Given the description of an element on the screen output the (x, y) to click on. 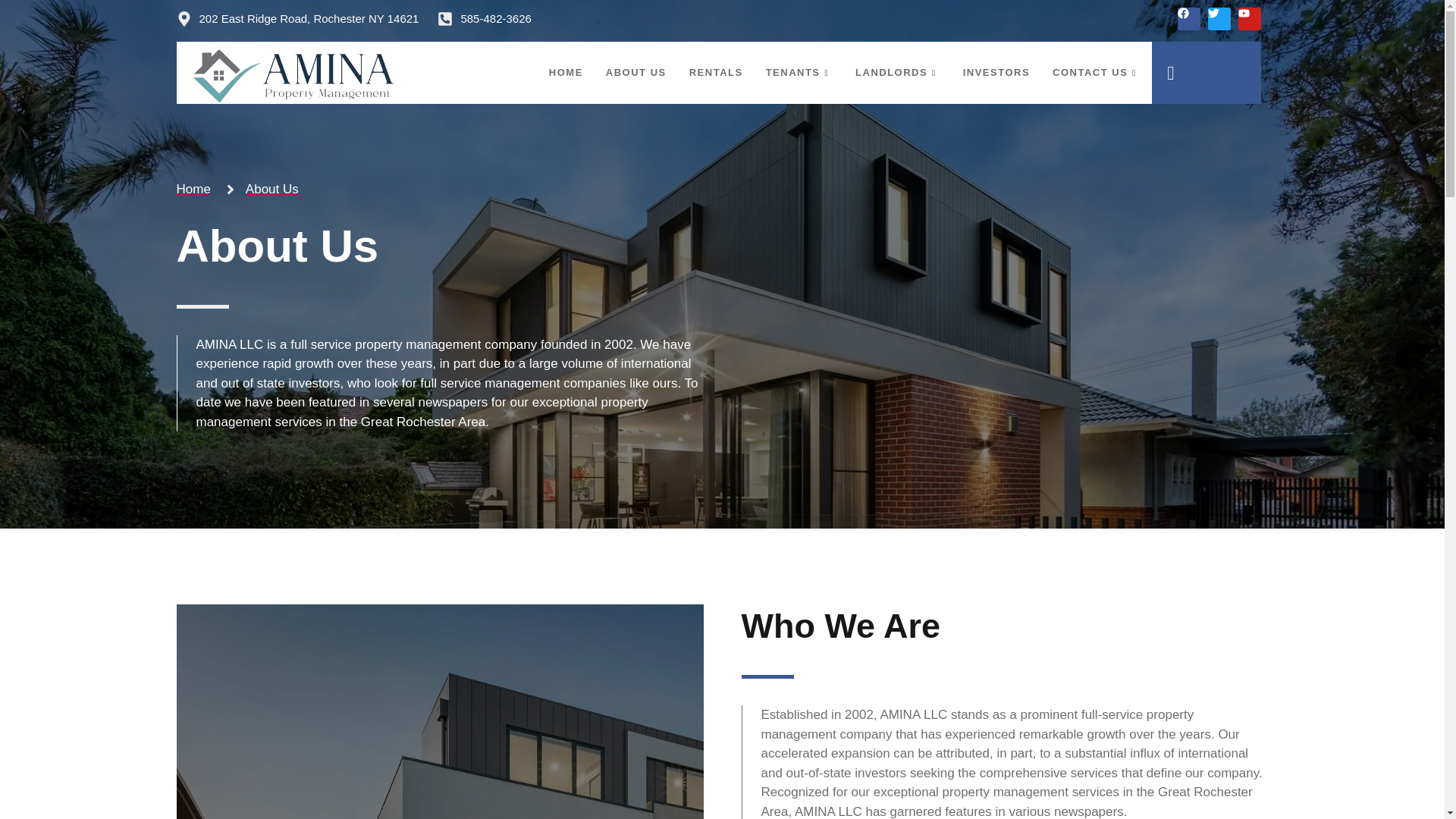
Twitter (1219, 18)
INVESTORS (996, 72)
TENANTS (799, 72)
LANDLORDS (898, 72)
About Us (260, 189)
Home (192, 189)
RENTALS (716, 72)
ABOUT US (636, 72)
Facebook (1188, 18)
CONTACT US (1096, 72)
